Given the description of an element on the screen output the (x, y) to click on. 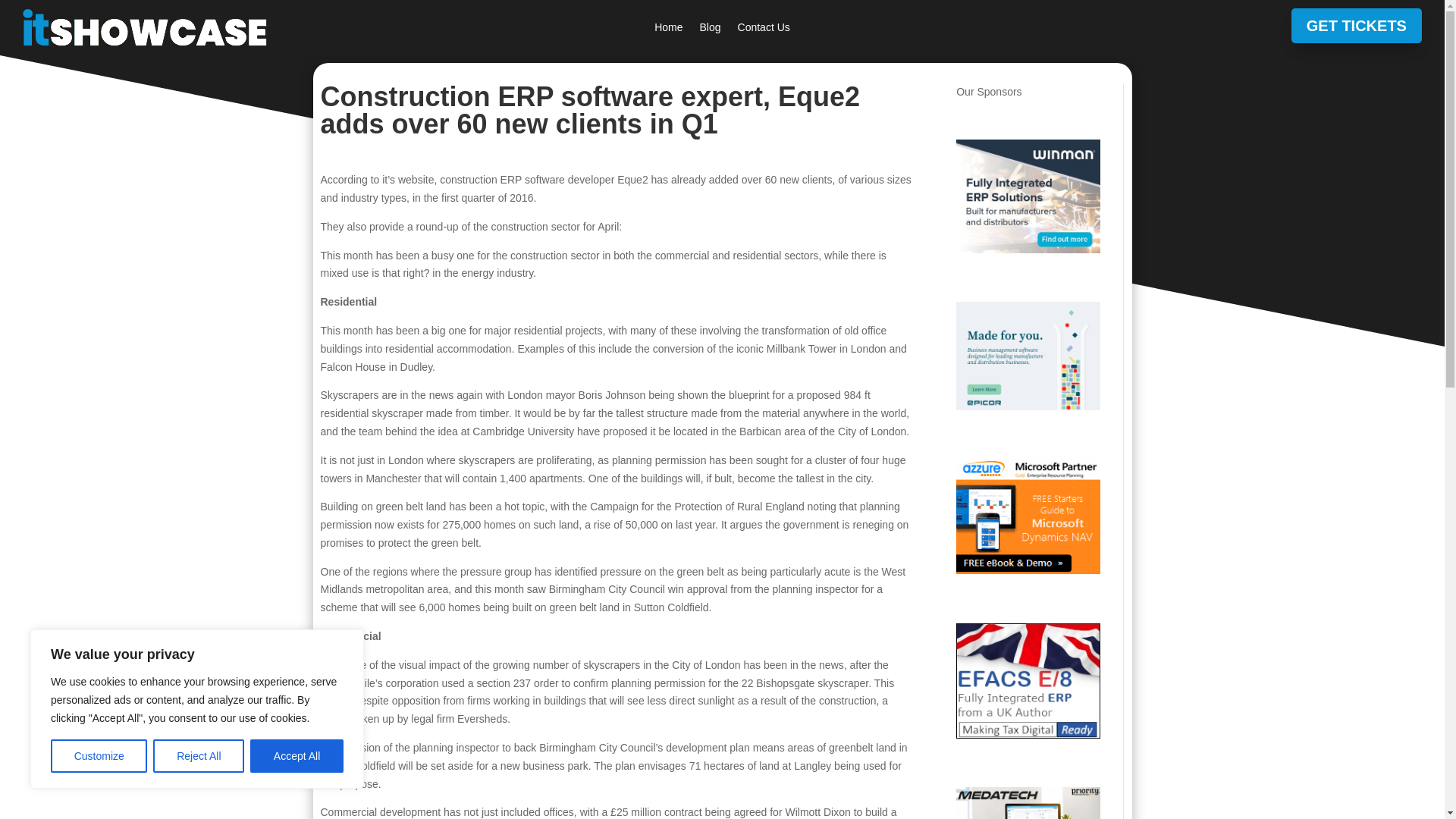
Accept All (296, 756)
iTSHOWCASE Logo Blue Medium (144, 27)
Reject All (198, 756)
GET TICKETS (1356, 25)
Contact Us (764, 30)
Blog (710, 30)
Home (667, 30)
Customize (98, 756)
